Given the description of an element on the screen output the (x, y) to click on. 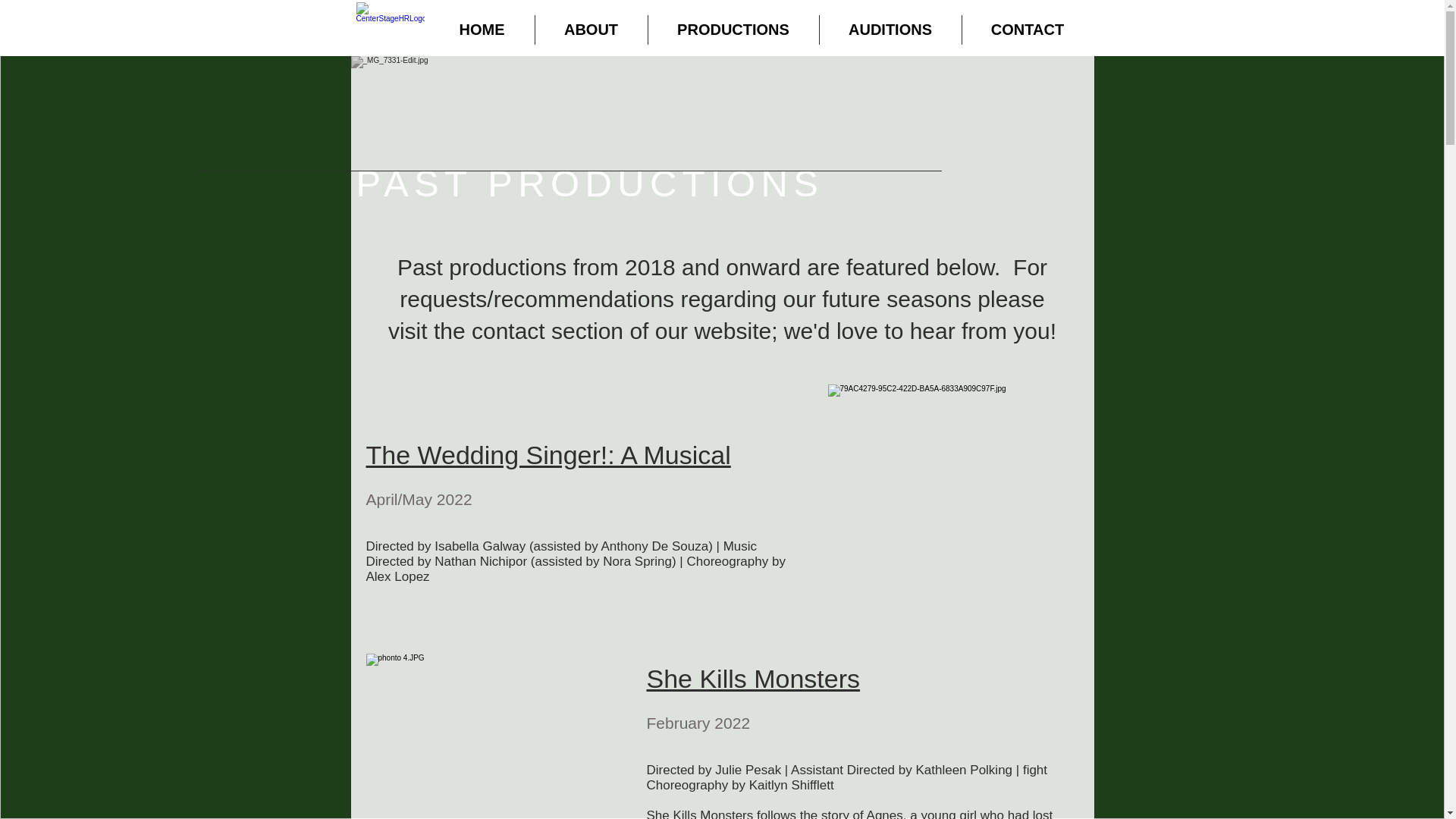
CONTACT (1026, 30)
AUDITIONS (889, 30)
She Kills Monsters (753, 678)
HOME (481, 30)
The Wedding Singer!: A Musical (547, 454)
ABOUT (591, 30)
